Given the description of an element on the screen output the (x, y) to click on. 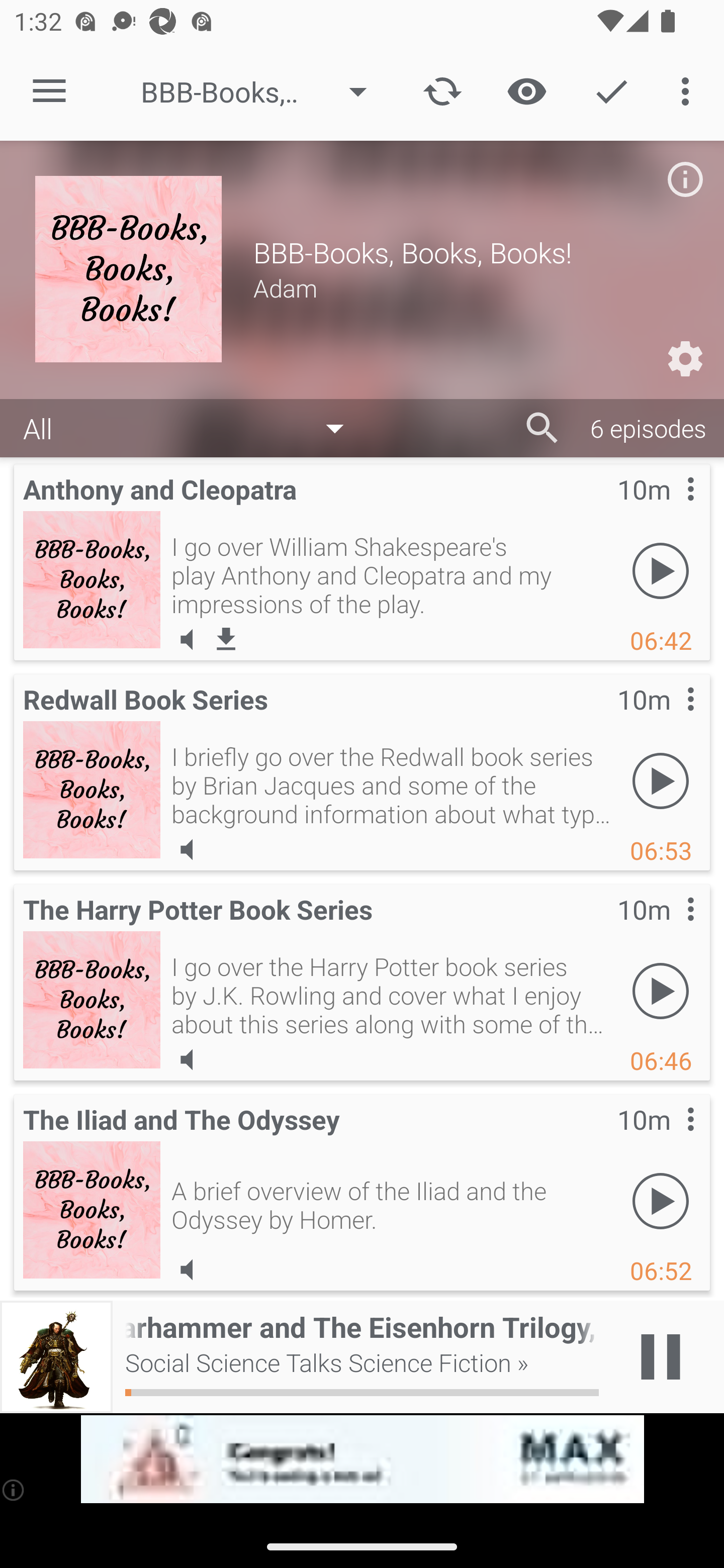
Open navigation sidebar (49, 91)
Update (442, 90)
Show / Hide played content (526, 90)
Action Mode (611, 90)
More options (688, 90)
BBB-Books, Books, Books! (263, 91)
Podcast description (685, 179)
Adam (470, 287)
Custom Settings (685, 358)
Search (542, 428)
All (192, 428)
Contextual menu (668, 508)
Anthony and Cleopatra (91, 579)
Play (660, 571)
Contextual menu (668, 718)
Redwall Book Series (91, 789)
Play (660, 780)
Contextual menu (668, 928)
The Harry Potter Book Series (91, 999)
Play (660, 990)
Contextual menu (668, 1138)
The Iliad and The Odyssey (91, 1209)
Play (660, 1200)
Play / Pause (660, 1356)
app-monetization (362, 1459)
(i) (14, 1489)
